Given the description of an element on the screen output the (x, y) to click on. 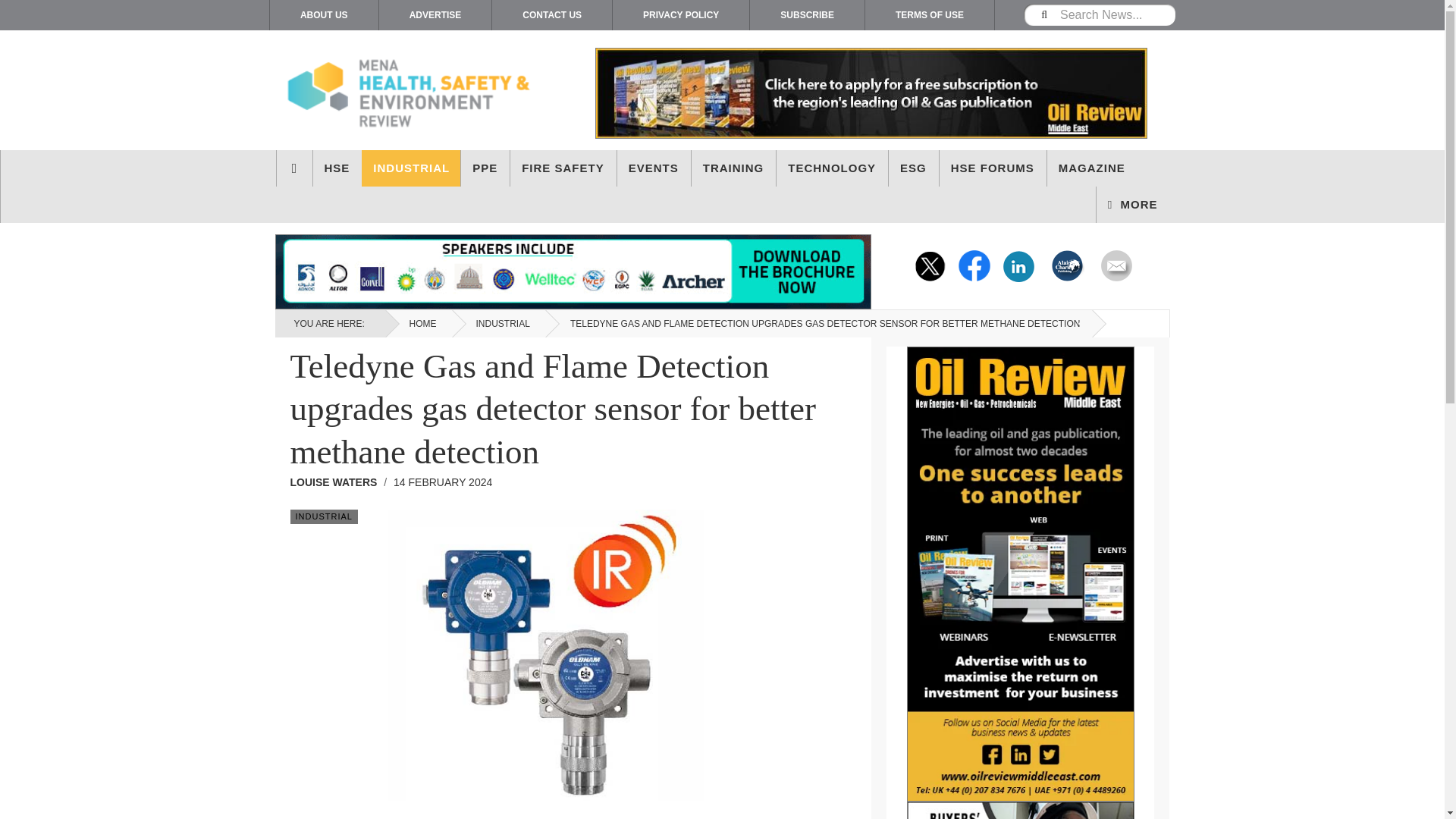
Follow Us on Linkedin (1018, 265)
TRAINING (733, 167)
HSE (337, 167)
Category:  (322, 516)
Contact the team at HSS Review Middle East (1114, 265)
Find out more about Alain Charles Publishing (1067, 265)
MAGAZINE (1091, 167)
EVENTS (653, 167)
HOME (293, 167)
PPE (485, 167)
FIRE SAFETY (563, 167)
Created:  (442, 482)
Written by:  (338, 482)
TECHNOLOGY (832, 167)
TERMS OF USE (929, 15)
